Given the description of an element on the screen output the (x, y) to click on. 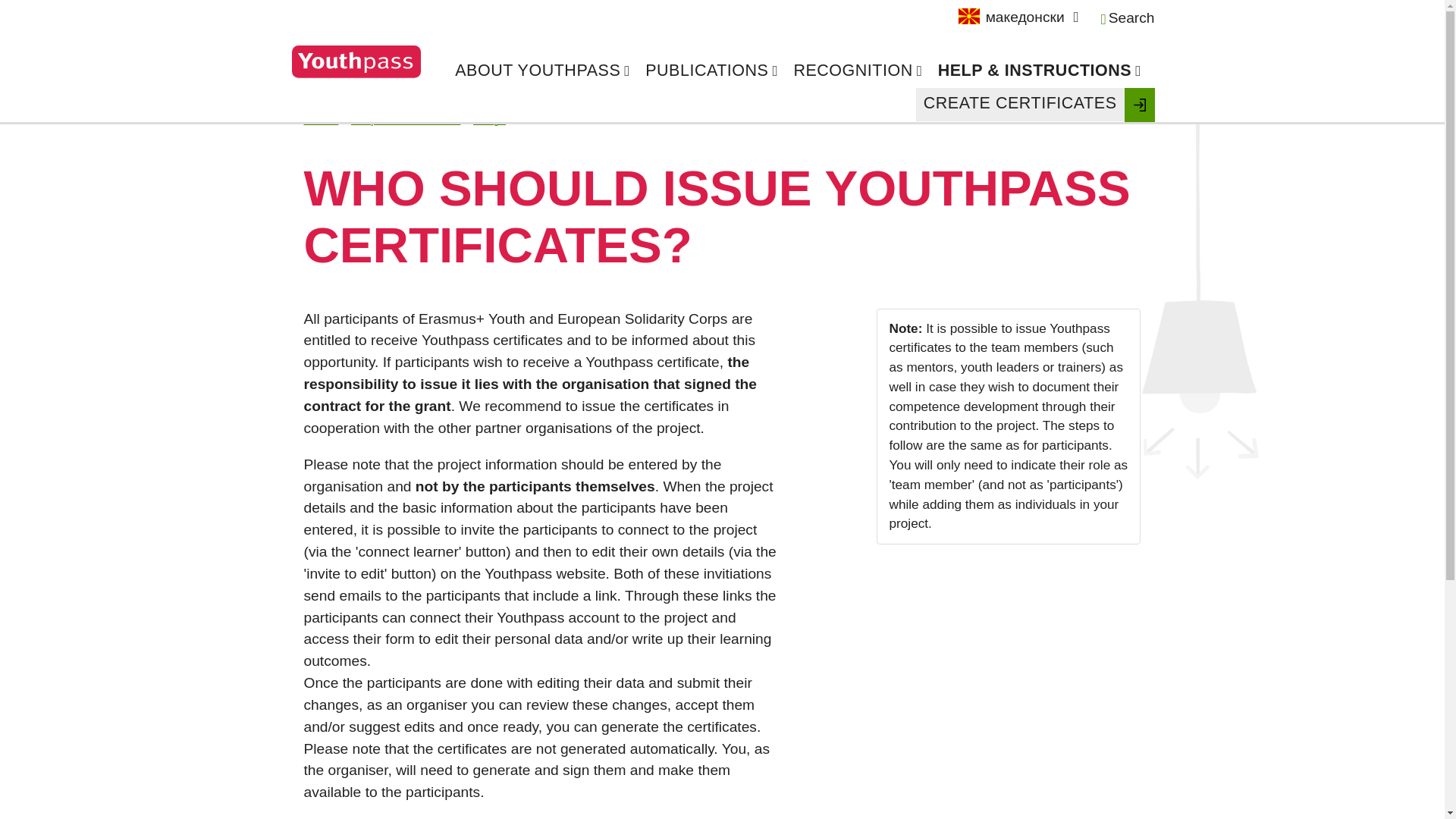
PUBLICATIONS (711, 71)
ABOUT YOUTHPASS (542, 71)
RECOGNITION (857, 71)
CREATE CERTIFICATES (1019, 103)
Home (319, 118)
Login (1139, 104)
Search (1127, 18)
